Given the description of an element on the screen output the (x, y) to click on. 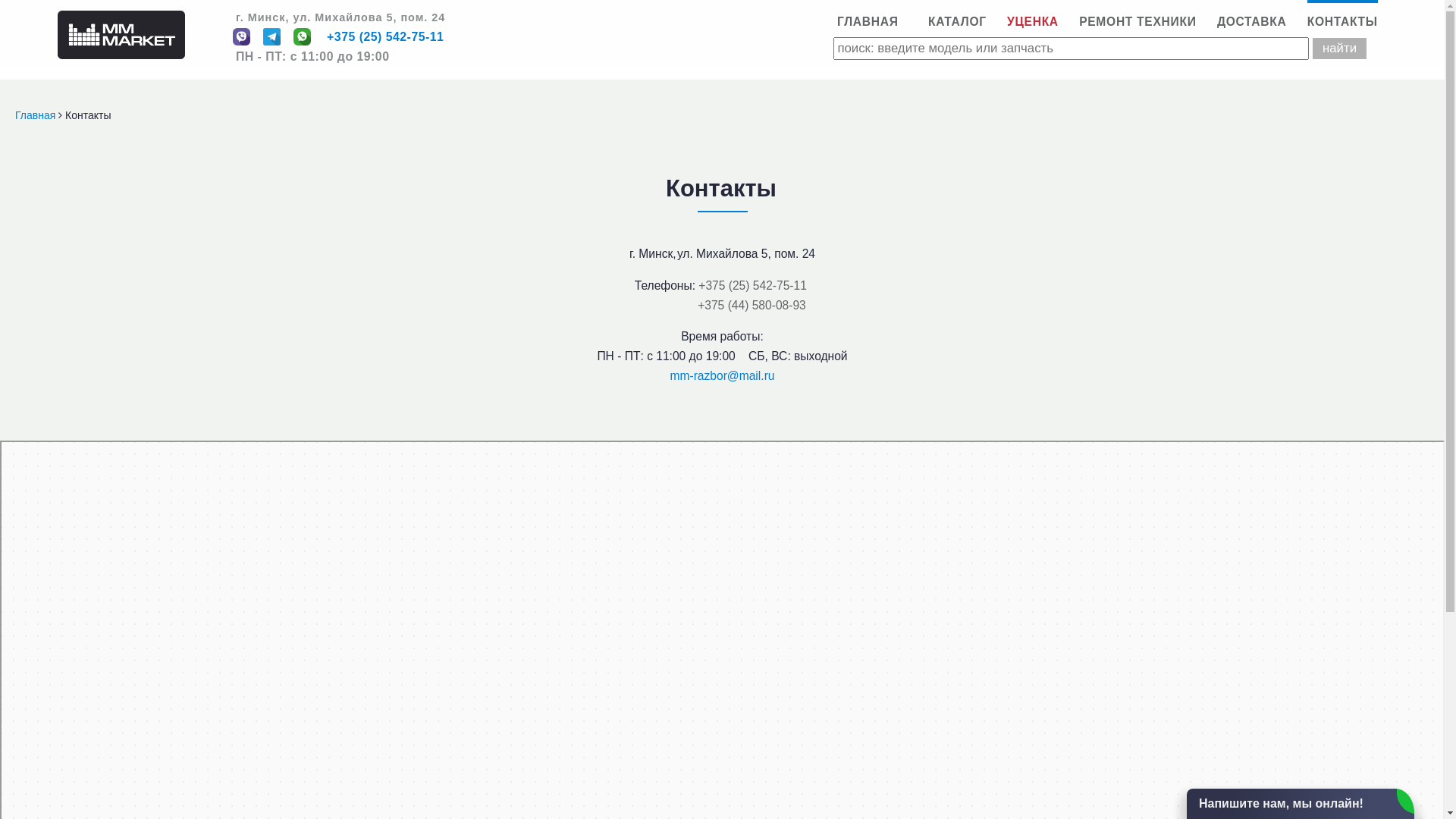
+375 (25) 542-75-11 Element type: text (752, 285)
mm-razbor@mail.ru Element type: text (722, 375)
+375 (44) 580-08-93 Element type: text (751, 304)
+375 (25) 542-75-11 Element type: text (384, 37)
